Given the description of an element on the screen output the (x, y) to click on. 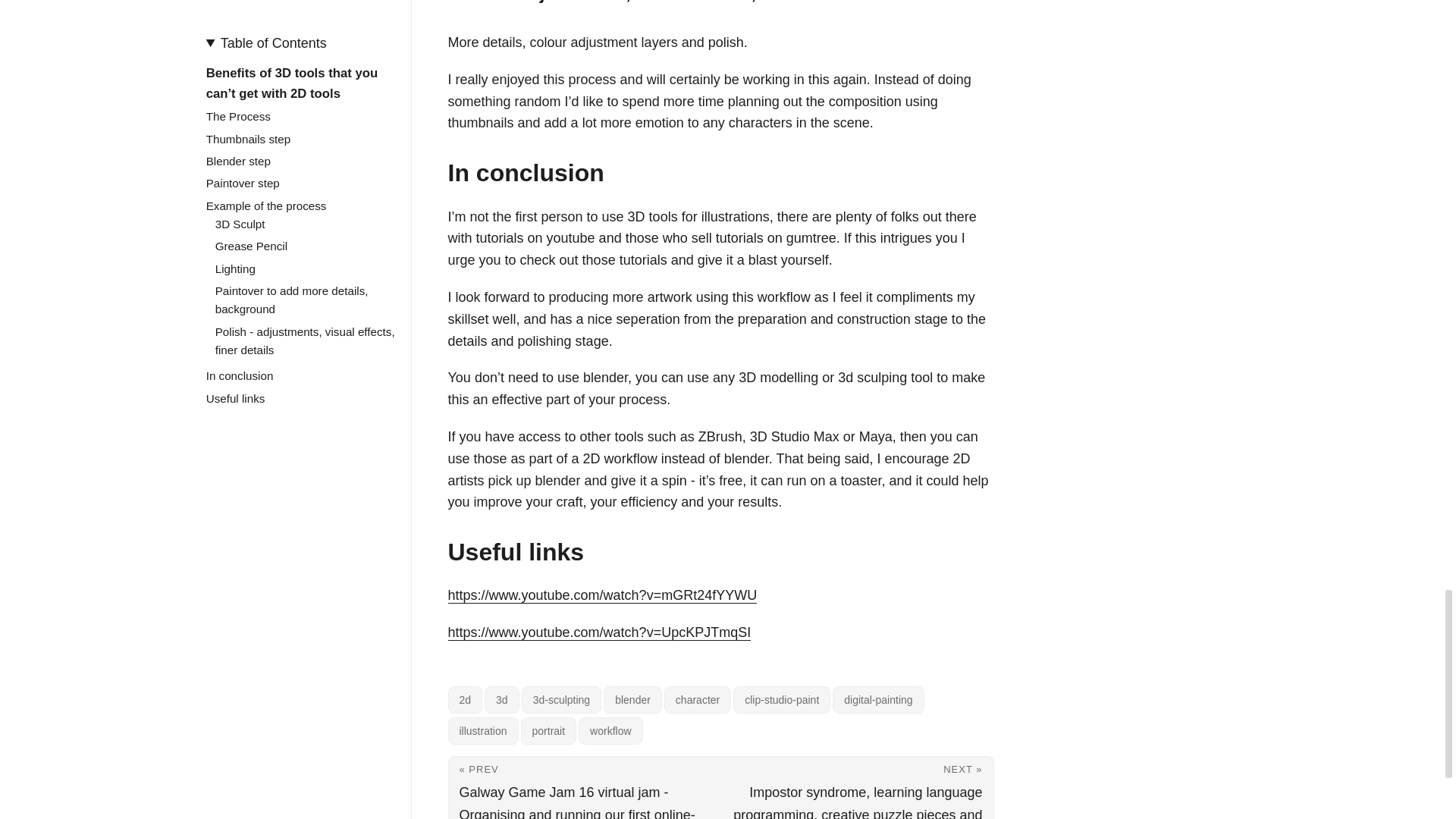
digital-painting (877, 699)
3d (501, 699)
character (696, 699)
clip-studio-paint (781, 699)
2d (463, 699)
illustration (482, 730)
blender (633, 699)
portrait (548, 730)
3d-sculpting (561, 699)
workflow (610, 730)
